Given the description of an element on the screen output the (x, y) to click on. 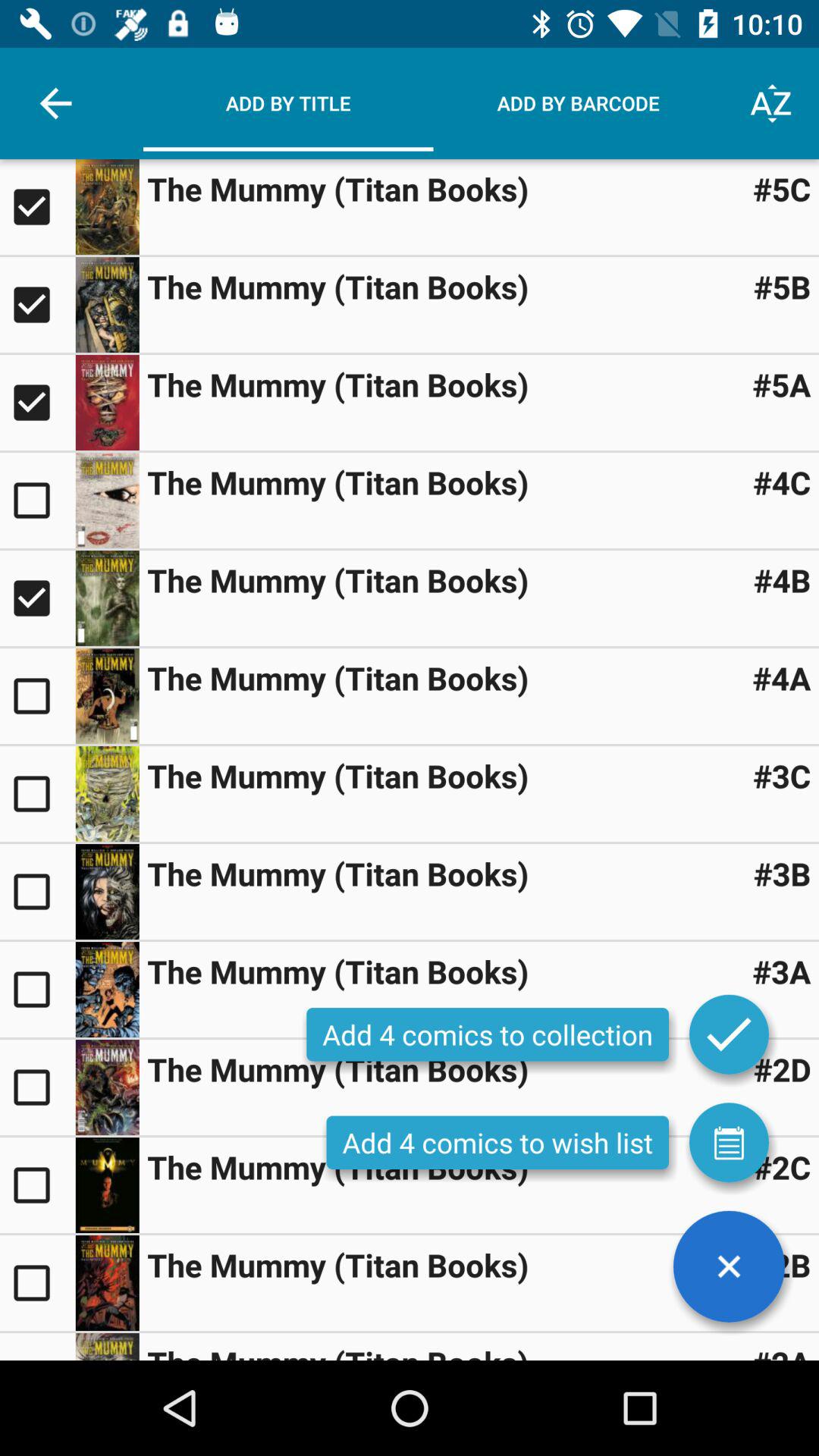
select this option (37, 1282)
